Given the description of an element on the screen output the (x, y) to click on. 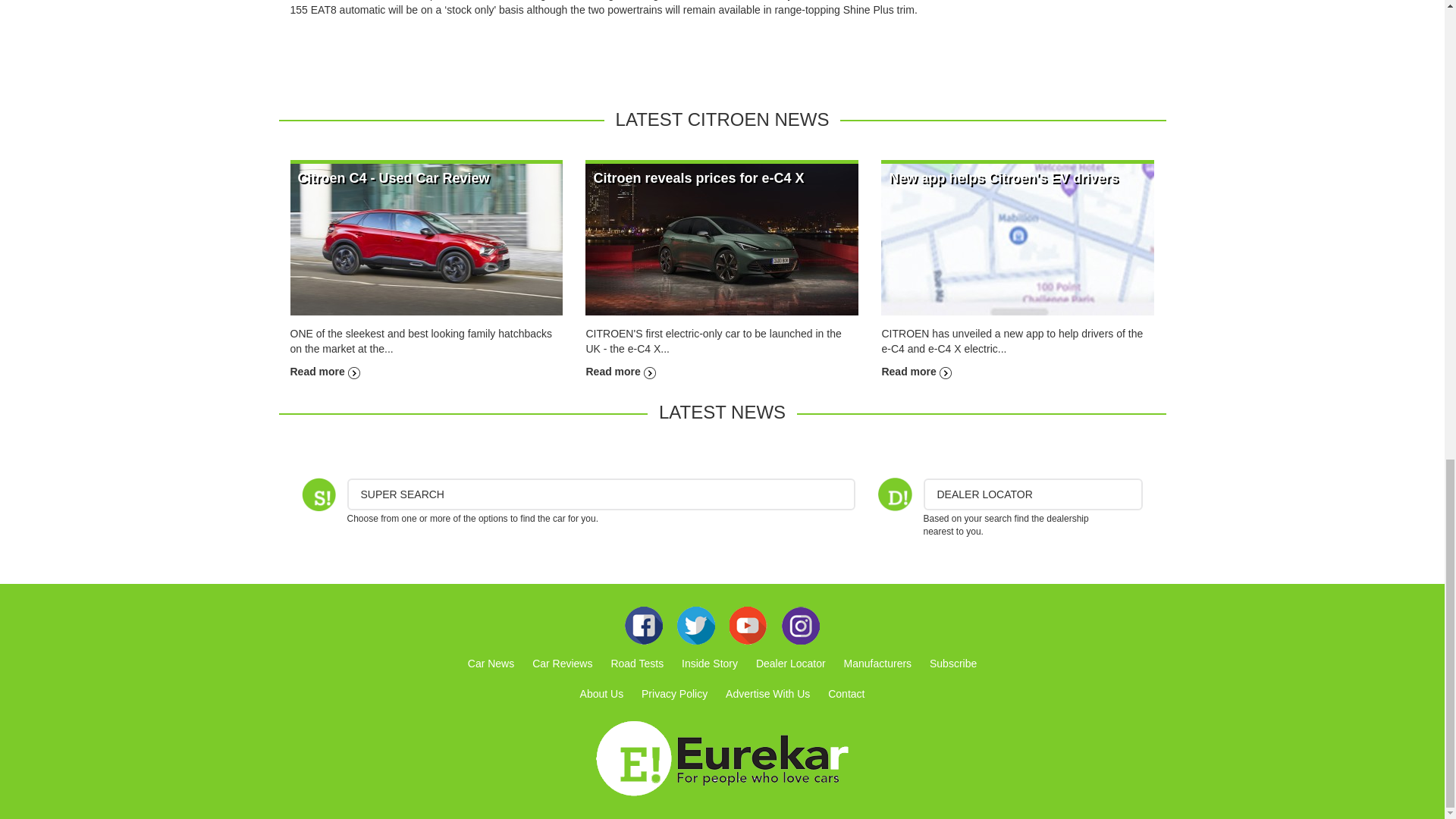
Citroen reveals prices for e-C4 X (697, 177)
Car News (490, 663)
Citroen C4 - Used Car Review (393, 177)
Citroen reveals prices for e-C4 X (722, 238)
Read more (915, 371)
Citroen reveals prices for e-C4 X (620, 371)
DEALER LOCATOR (1032, 494)
Citroen C4 - Used Car Review (393, 177)
New app helps Citroen's EV drivers (1003, 177)
Citroen reveals prices for e-C4 X (697, 177)
Read more (620, 371)
Read more (324, 371)
Citroen C4 - Used Car Review (324, 371)
New app helps Citroen's EV drivers (915, 371)
Citroen C4 - Used Car Review (425, 238)
